Given the description of an element on the screen output the (x, y) to click on. 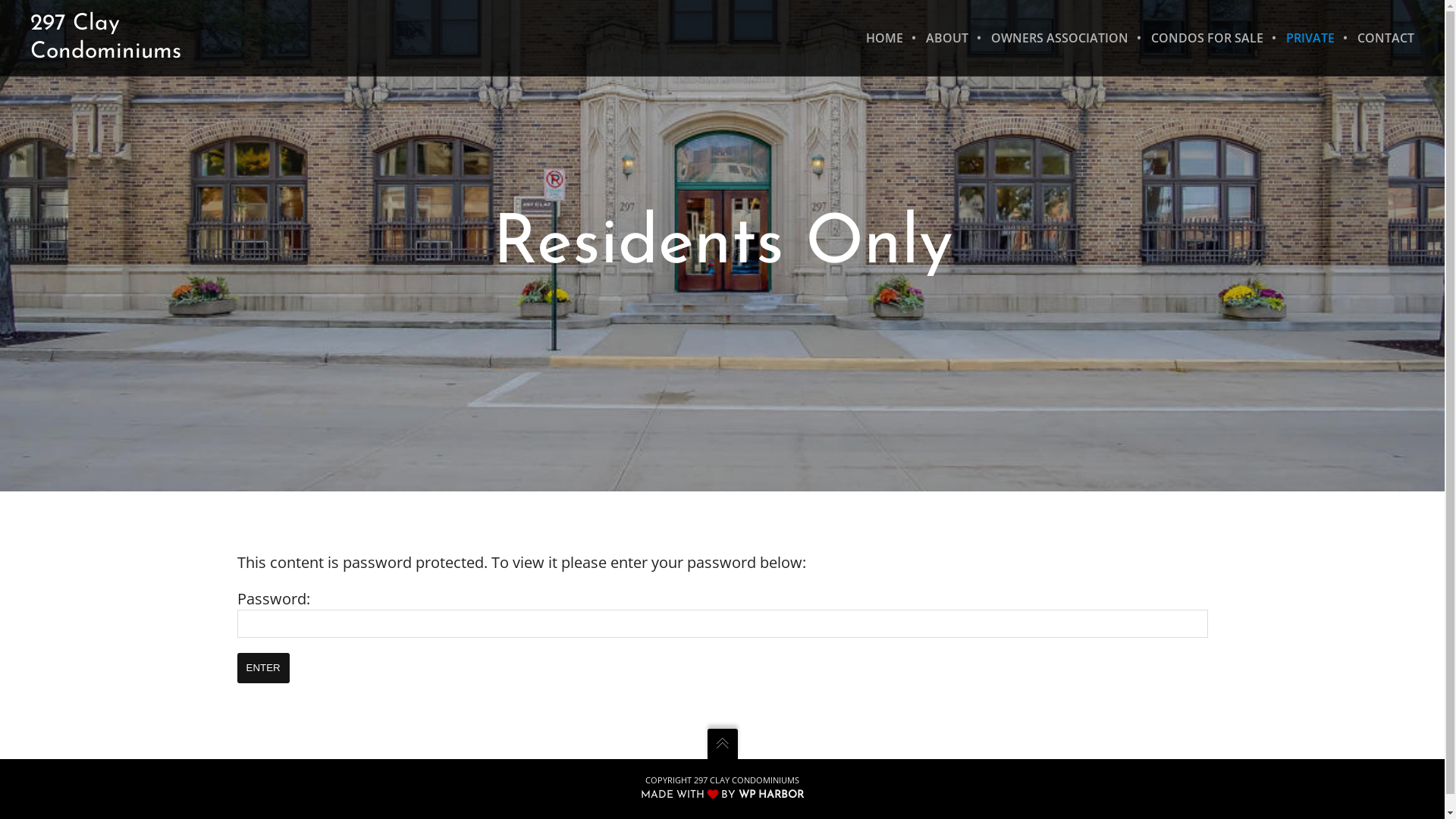
CONTACT Element type: text (1380, 37)
HOME Element type: text (884, 37)
CONDOS FOR SALE Element type: text (1206, 37)
ABOUT Element type: text (946, 37)
297 Clay Condominiums Element type: text (105, 38)
WP HARBOR Element type: text (770, 794)
PRIVATE Element type: text (1310, 37)
OWNERS ASSOCIATION Element type: text (1059, 37)
Enter Element type: text (262, 667)
